Given the description of an element on the screen output the (x, y) to click on. 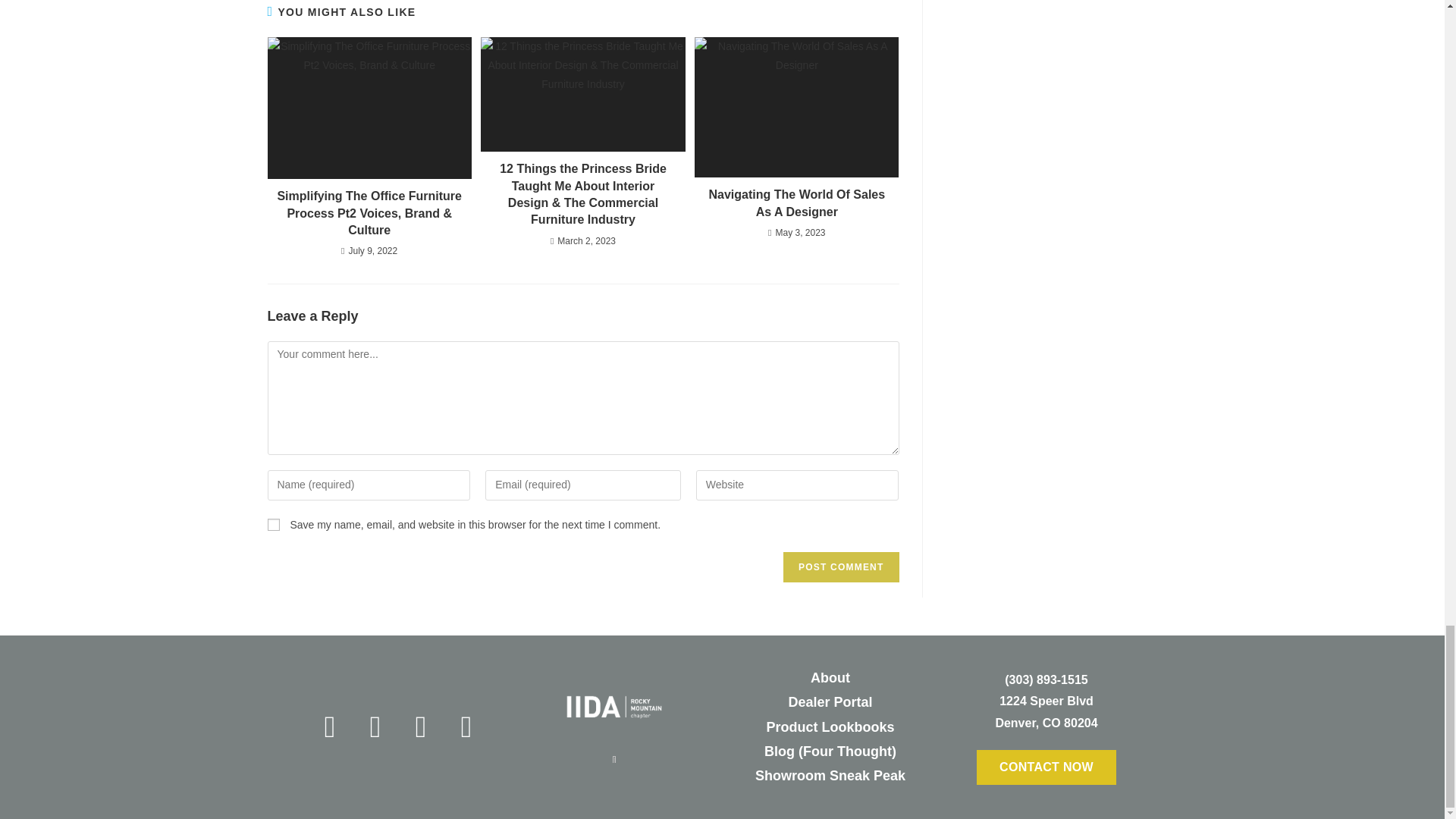
Navigating The World Of Sales As A Designer (796, 203)
Post Comment (840, 567)
Navigating The World Of Sales As A Designer (796, 203)
yes (272, 524)
Post Comment (840, 567)
